Given the description of an element on the screen output the (x, y) to click on. 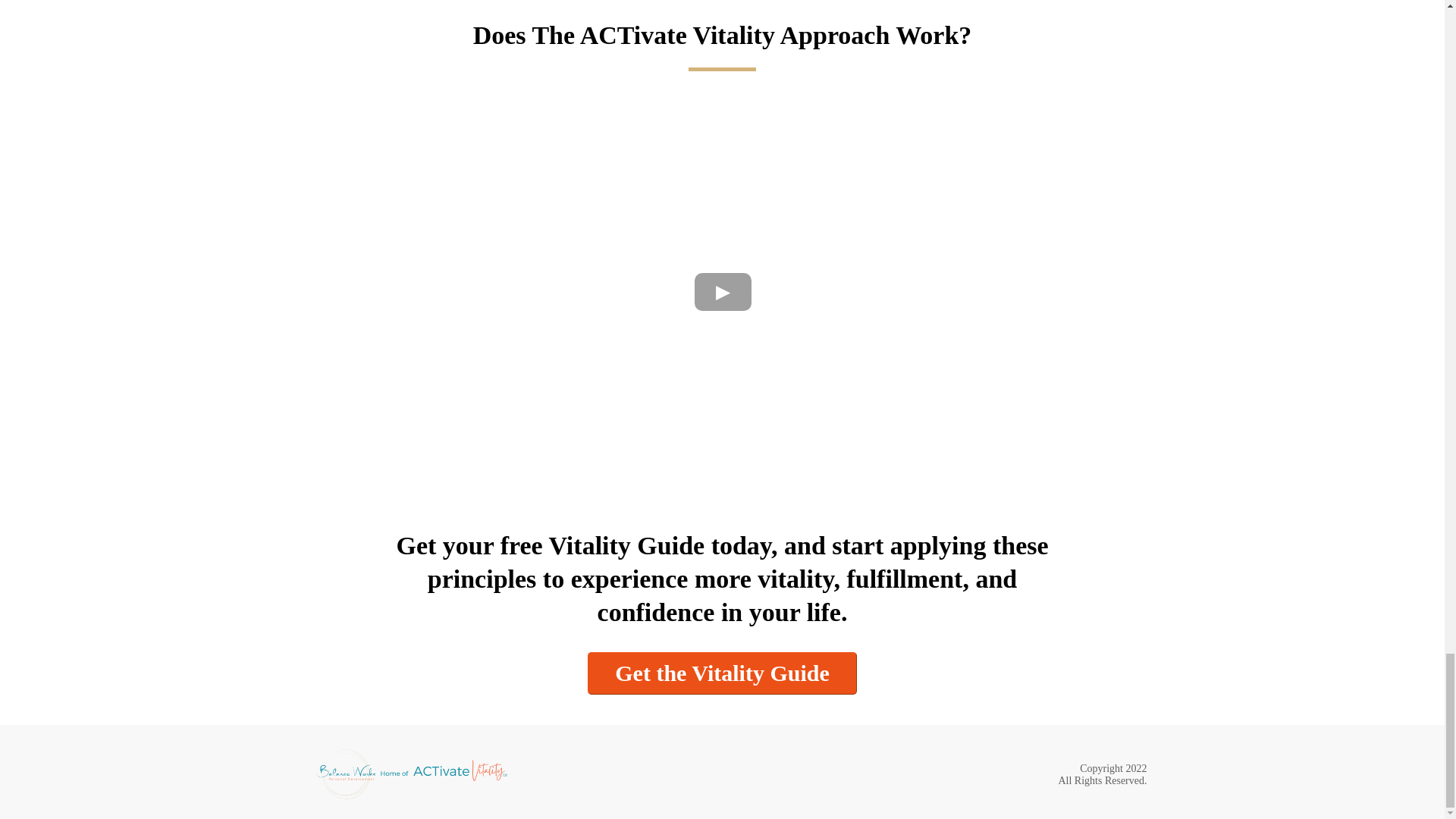
Get the Vitality Guide (722, 672)
